Given the description of an element on the screen output the (x, y) to click on. 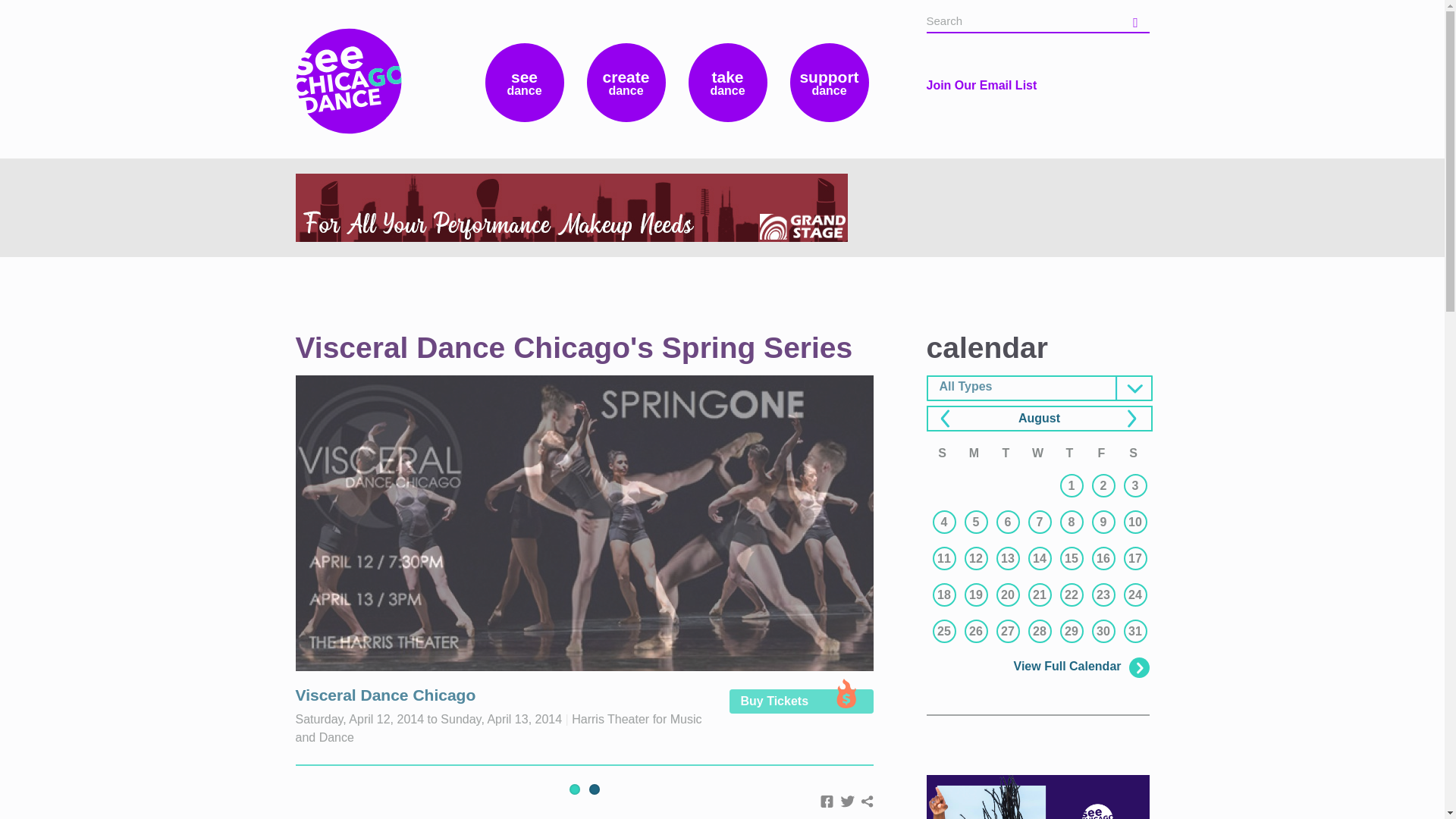
Search (1136, 20)
support (829, 82)
View full page month (1038, 418)
create (625, 82)
Enter the terms you wish to search for. (1022, 21)
Join Our Email List (981, 84)
see (524, 82)
Navigate to next month (1128, 420)
